Given the description of an element on the screen output the (x, y) to click on. 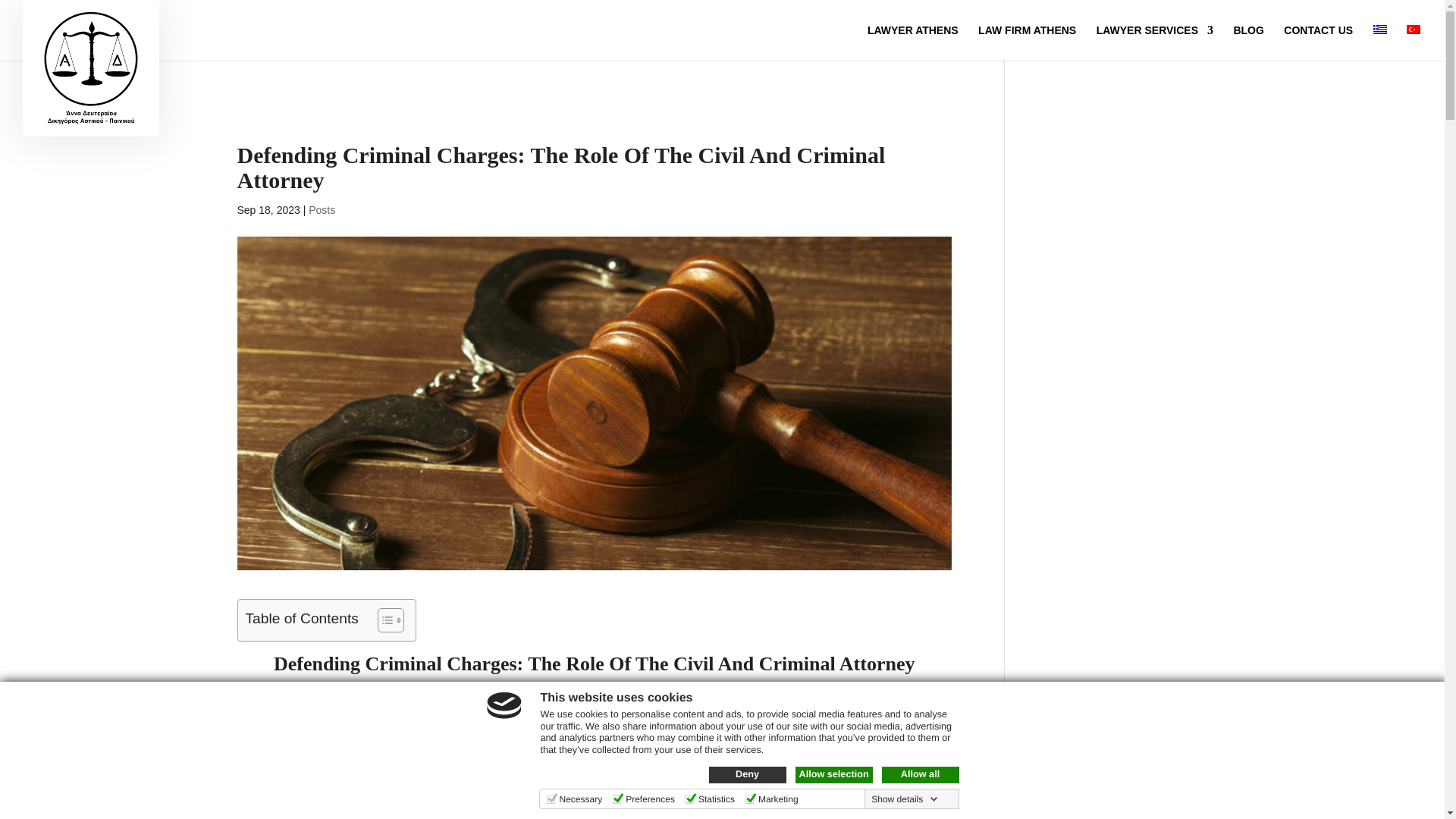
Allow selection (833, 774)
Deny (746, 774)
Allow all (919, 774)
Show details (903, 799)
LAW FIRM ATHENS (1026, 42)
LAWYER ATHENS (912, 42)
LAWYER SERVICES (1154, 42)
